Given the description of an element on the screen output the (x, y) to click on. 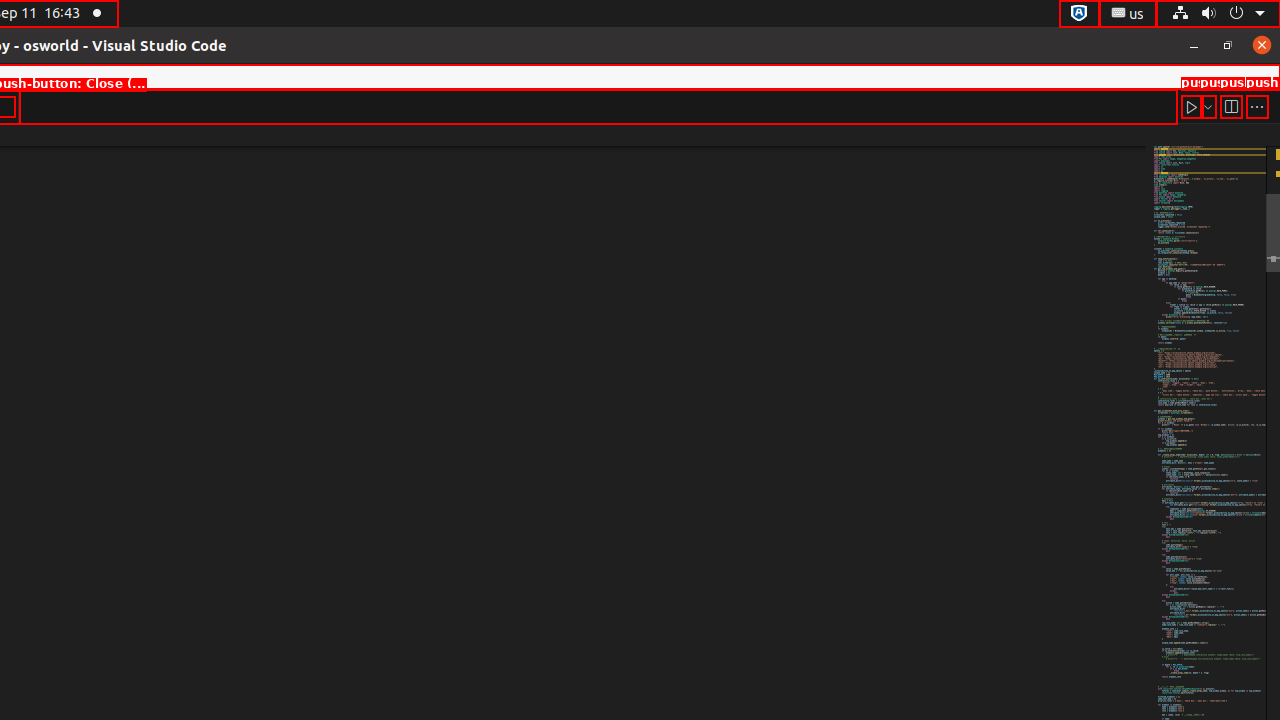
Split Editor Right (Ctrl+\) [Alt] Split Editor Down Element type: push-button (1231, 106)
